Given the description of an element on the screen output the (x, y) to click on. 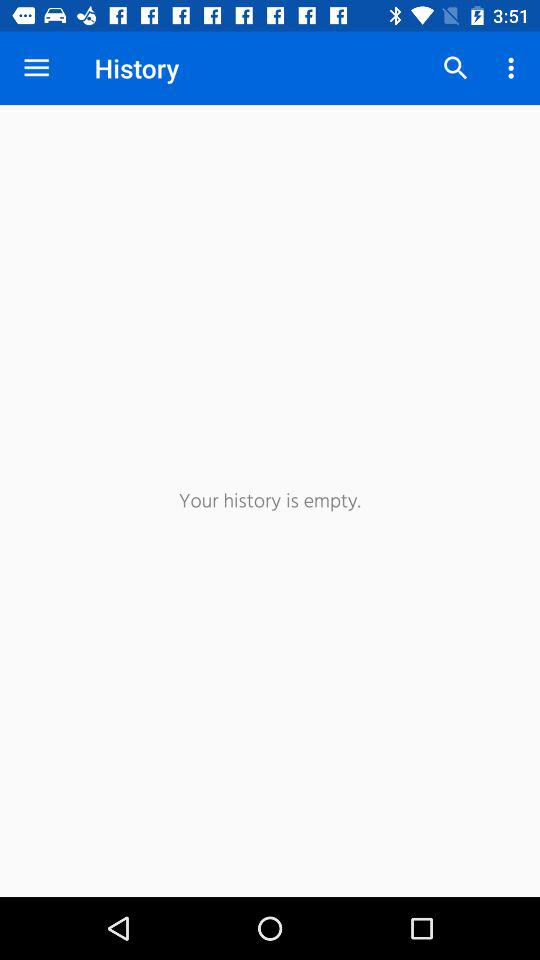
launch the item next to history item (36, 68)
